Given the description of an element on the screen output the (x, y) to click on. 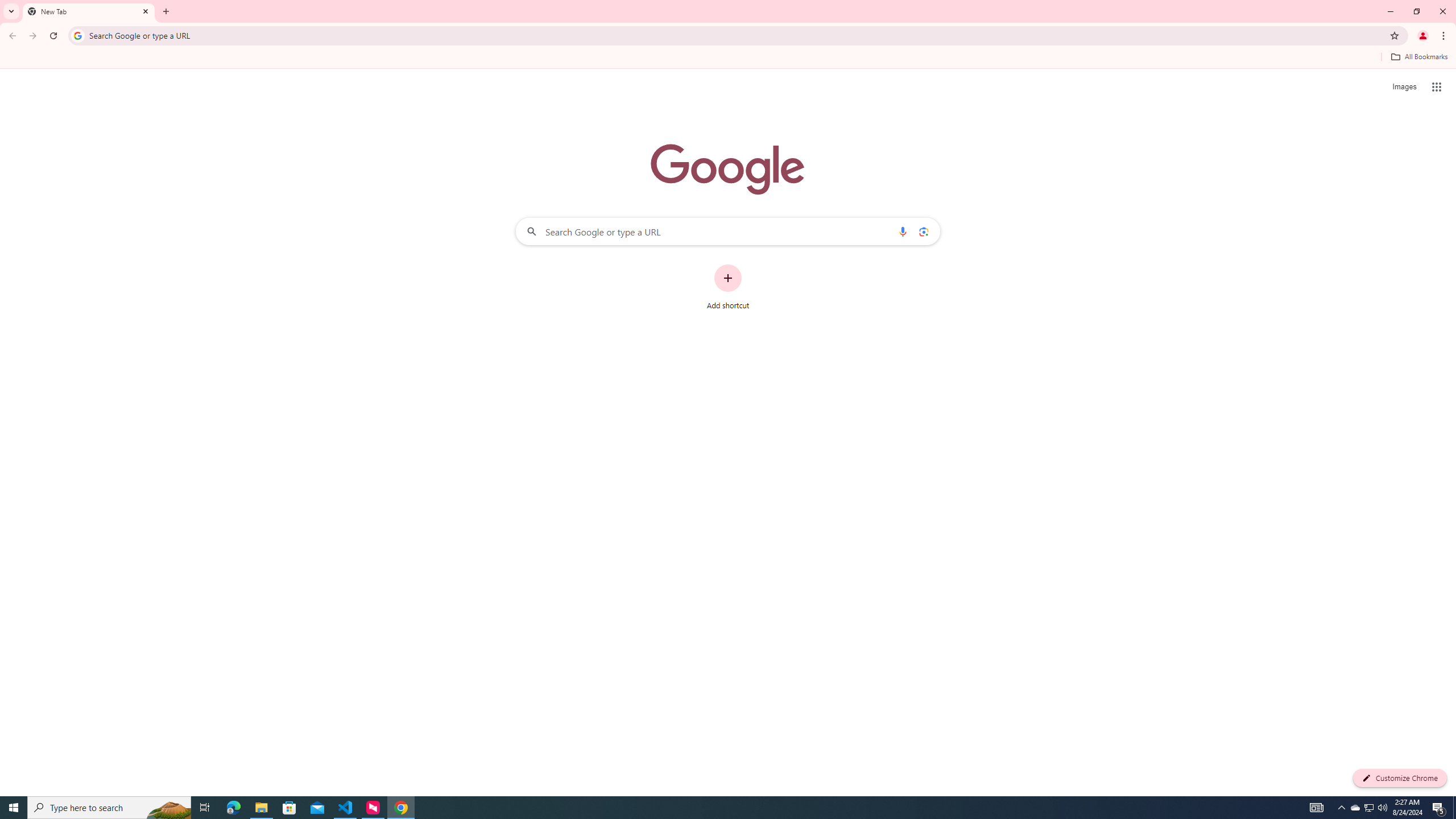
Bookmarks (728, 58)
